Given the description of an element on the screen output the (x, y) to click on. 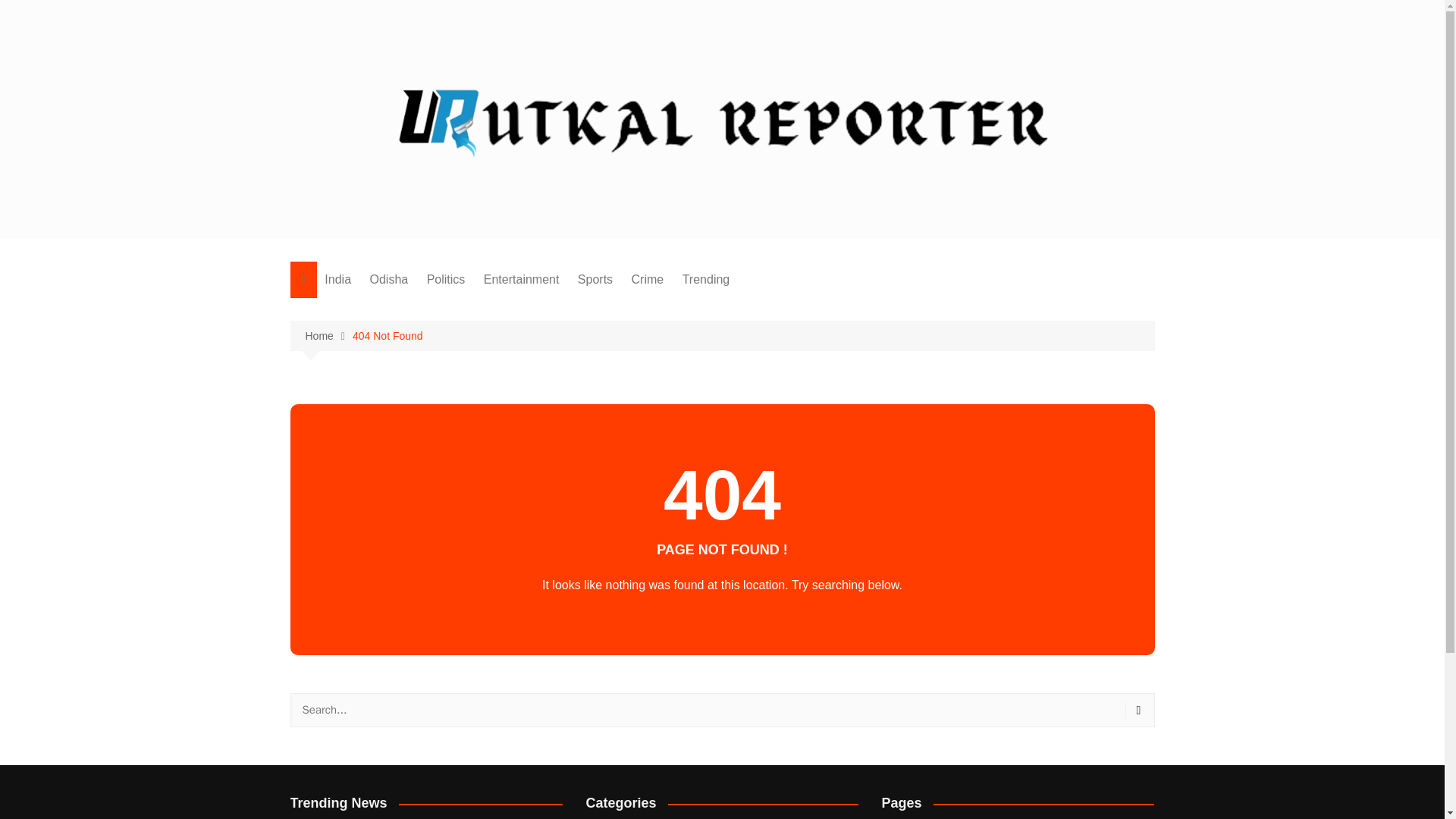
Home (328, 335)
Crime (647, 279)
India (337, 279)
404 Not Found (387, 335)
Entertainment (521, 279)
Odisha (389, 279)
Trending (706, 279)
Sports (595, 279)
Politics (446, 279)
